Given the description of an element on the screen output the (x, y) to click on. 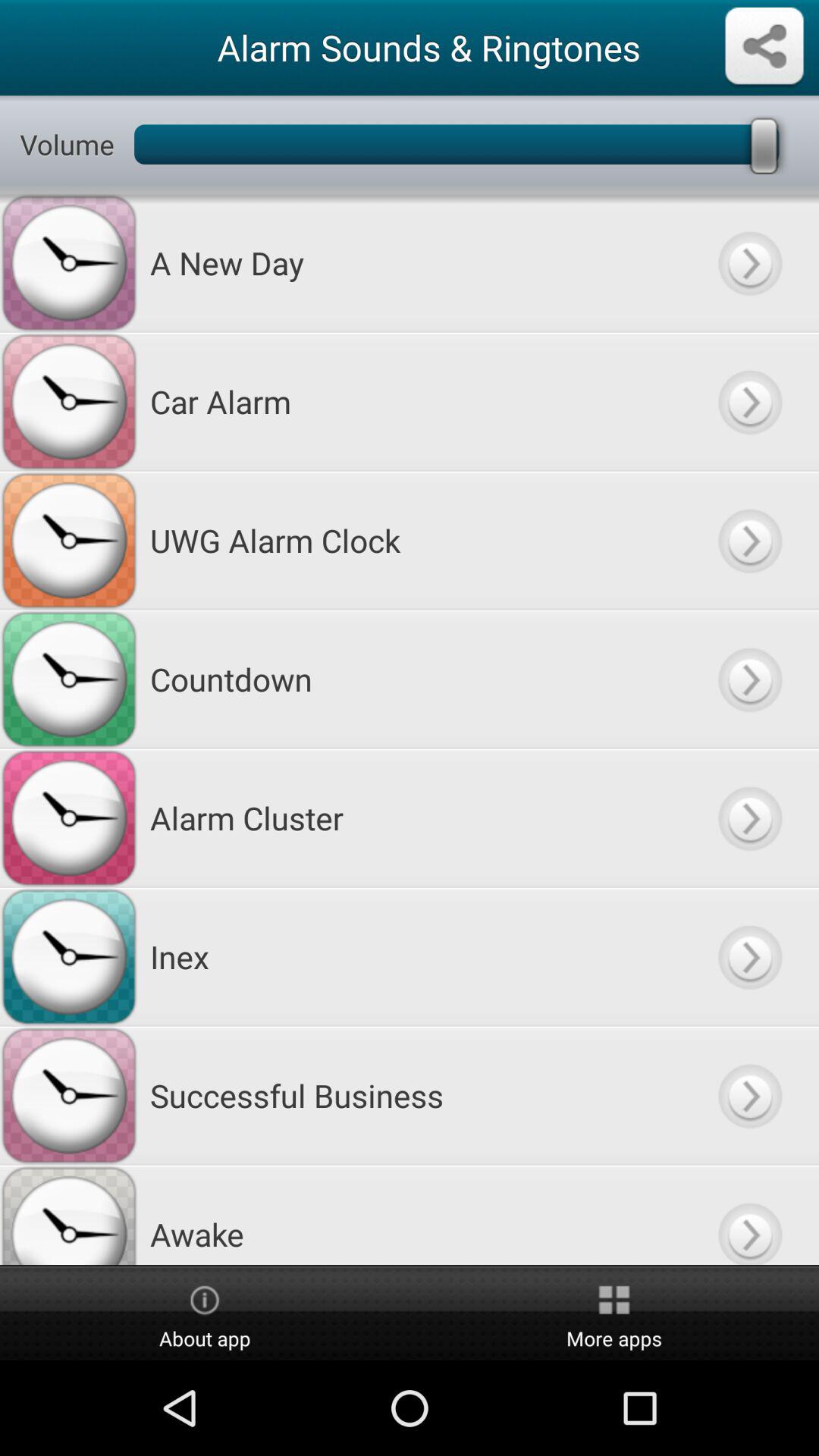
share this app (764, 47)
